Given the description of an element on the screen output the (x, y) to click on. 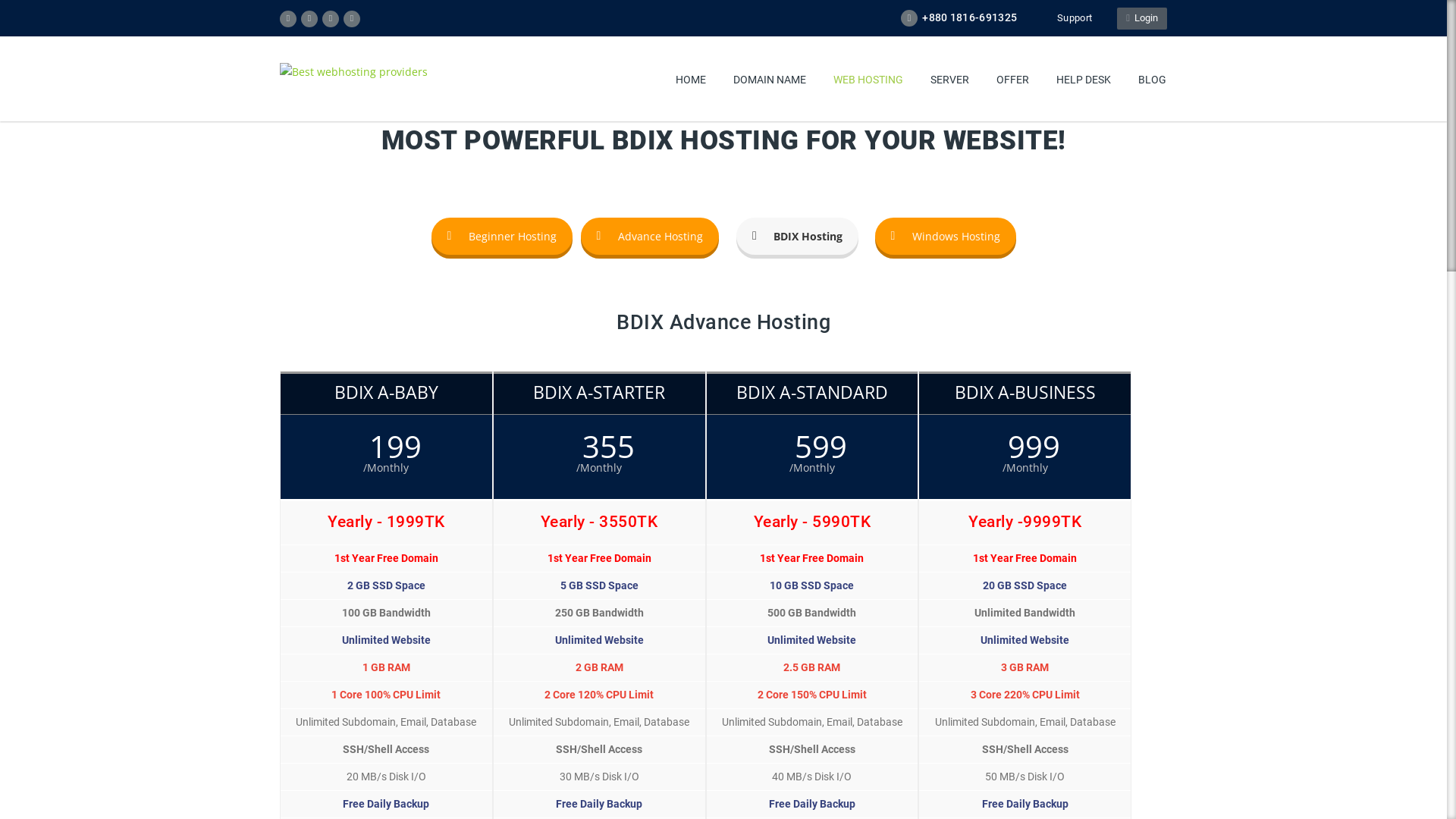
WEB HOSTING Element type: text (867, 79)
DOMAIN NAME Element type: text (769, 79)
SERVER Element type: text (949, 79)
HELP DESK Element type: text (1083, 79)
  Login Element type: text (1142, 18)
Beginner Hosting Element type: text (500, 235)
OFFER Element type: text (1012, 79)
HOME Element type: text (690, 79)
Windows Hosting Element type: text (945, 235)
BDIX Hosting Element type: text (797, 235)
BLOG Element type: text (1151, 79)
Advance Hosting Element type: text (649, 235)
Support Element type: text (1066, 17)
